Given the description of an element on the screen output the (x, y) to click on. 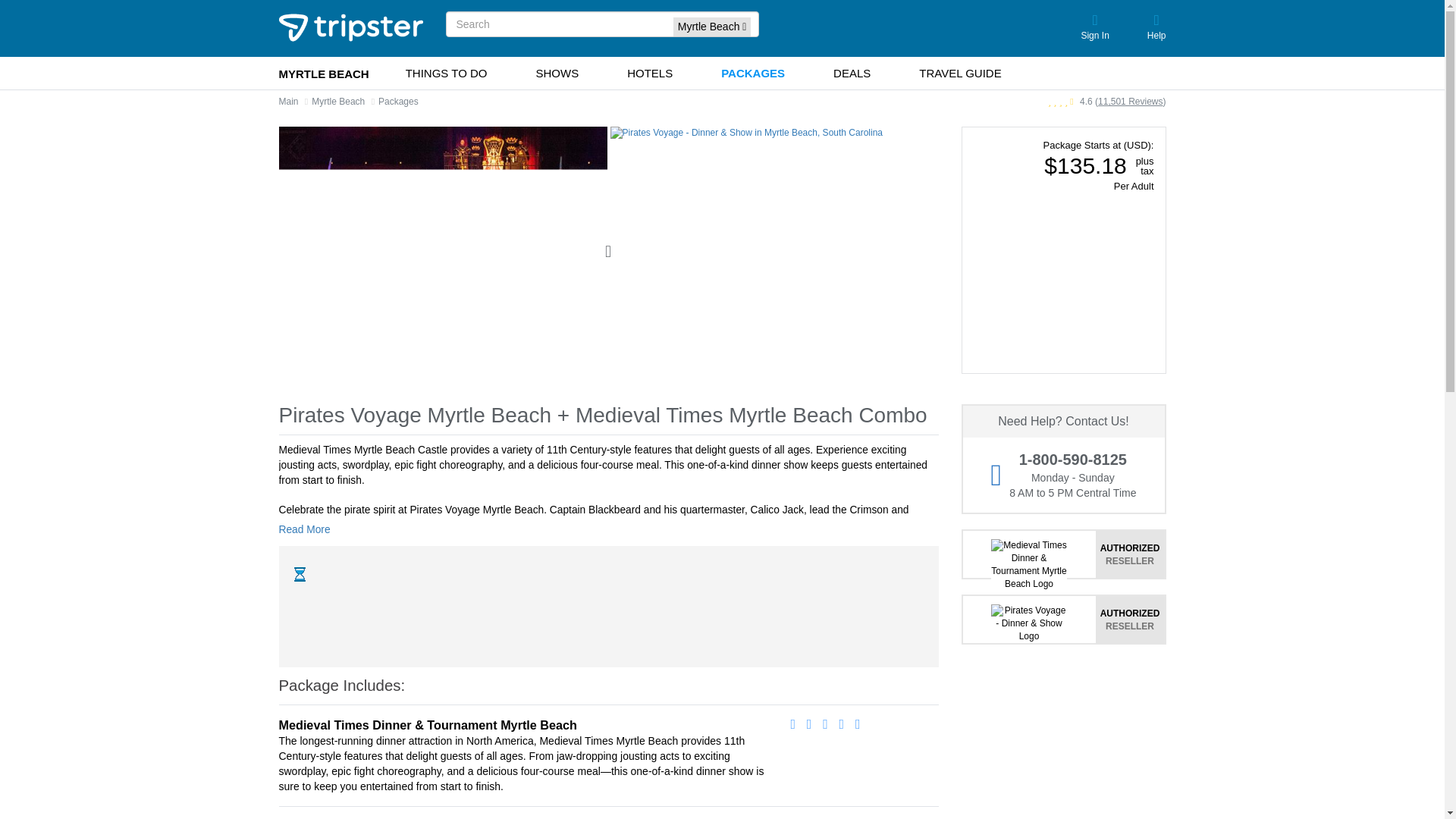
Packages (398, 101)
HOTELS (649, 72)
DEALS (852, 72)
Myrtle Beach (338, 101)
Read More (309, 529)
Myrtle Beach Packages (398, 101)
TRAVEL GUIDE (960, 72)
PACKAGES (753, 72)
11,501 Reviews (1129, 101)
Myrtle Beach (338, 101)
